Given the description of an element on the screen output the (x, y) to click on. 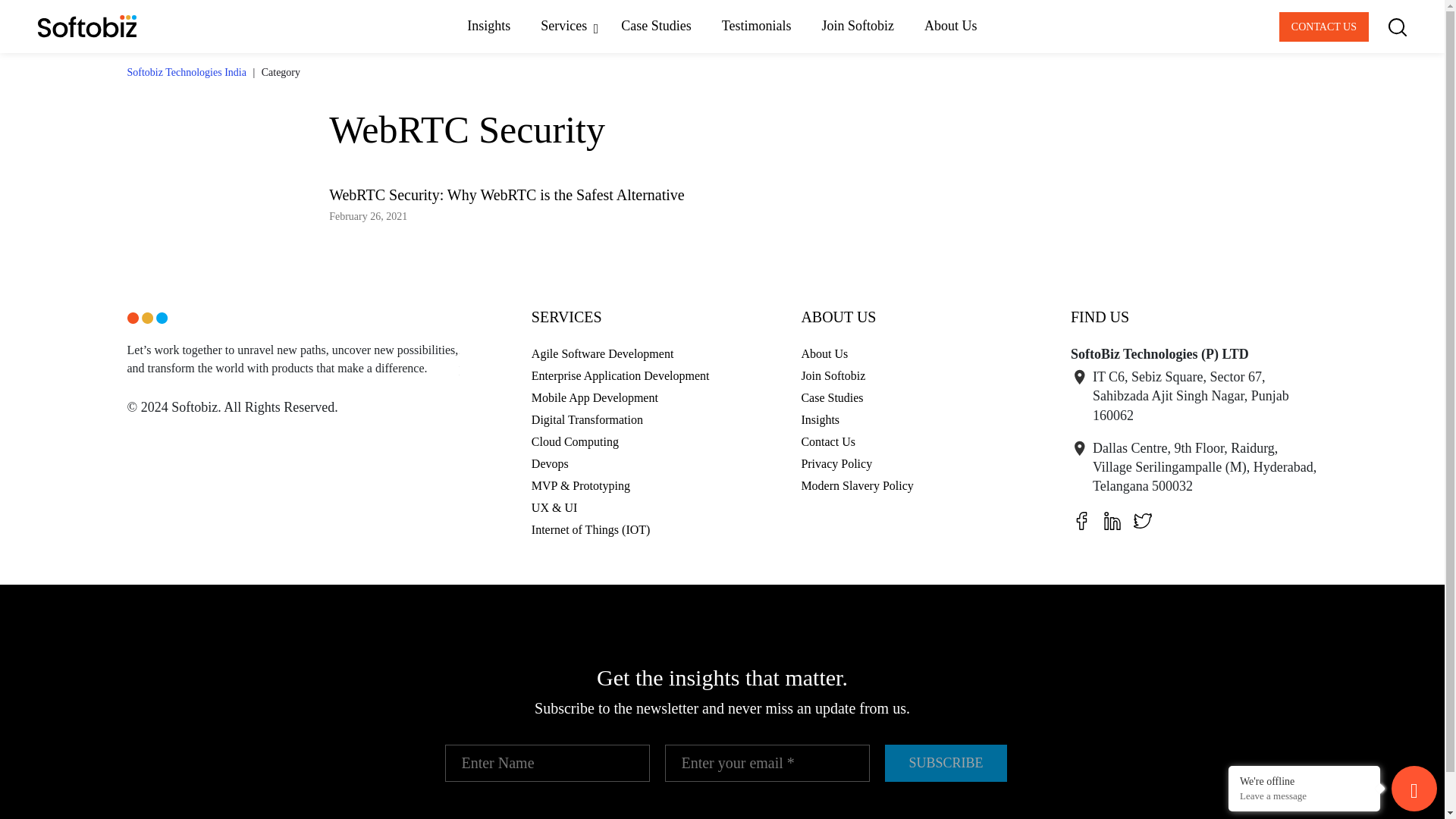
Join Softobiz (858, 25)
Mobile App Development (594, 397)
Case Studies (831, 397)
Testimonials (756, 25)
We're offline (1304, 780)
Agile Software Development (602, 353)
Cloud Computing (574, 440)
Insights (820, 419)
Enterprise Application Development (620, 375)
Subscribe (945, 763)
Case Studies (655, 25)
Services (565, 25)
Leave a message (1304, 796)
Join Softobiz (832, 375)
